Given the description of an element on the screen output the (x, y) to click on. 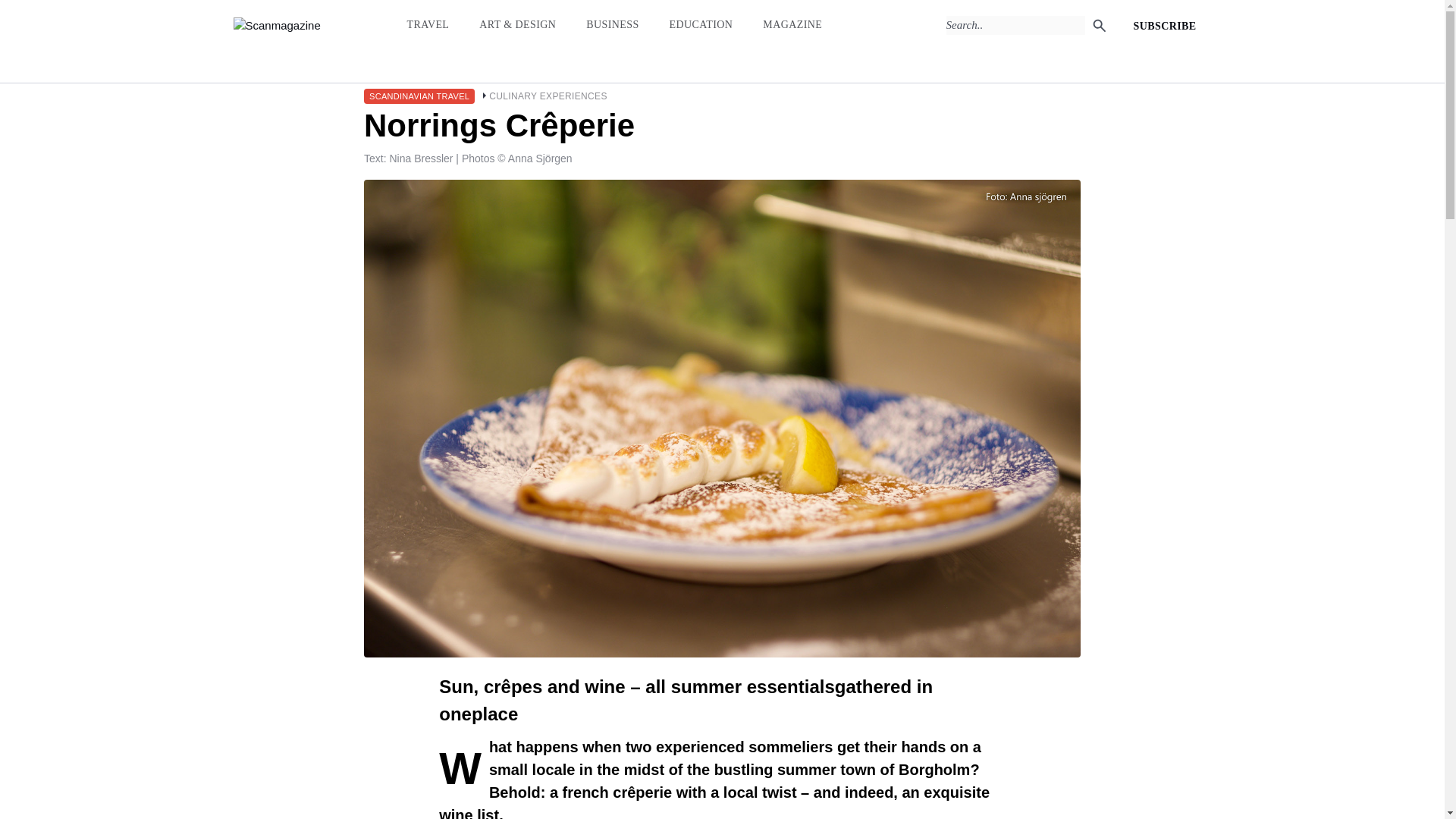
MAGAZINE (792, 24)
TRAVEL (427, 24)
EDUCATION (701, 24)
BUSINESS (612, 24)
